Given the description of an element on the screen output the (x, y) to click on. 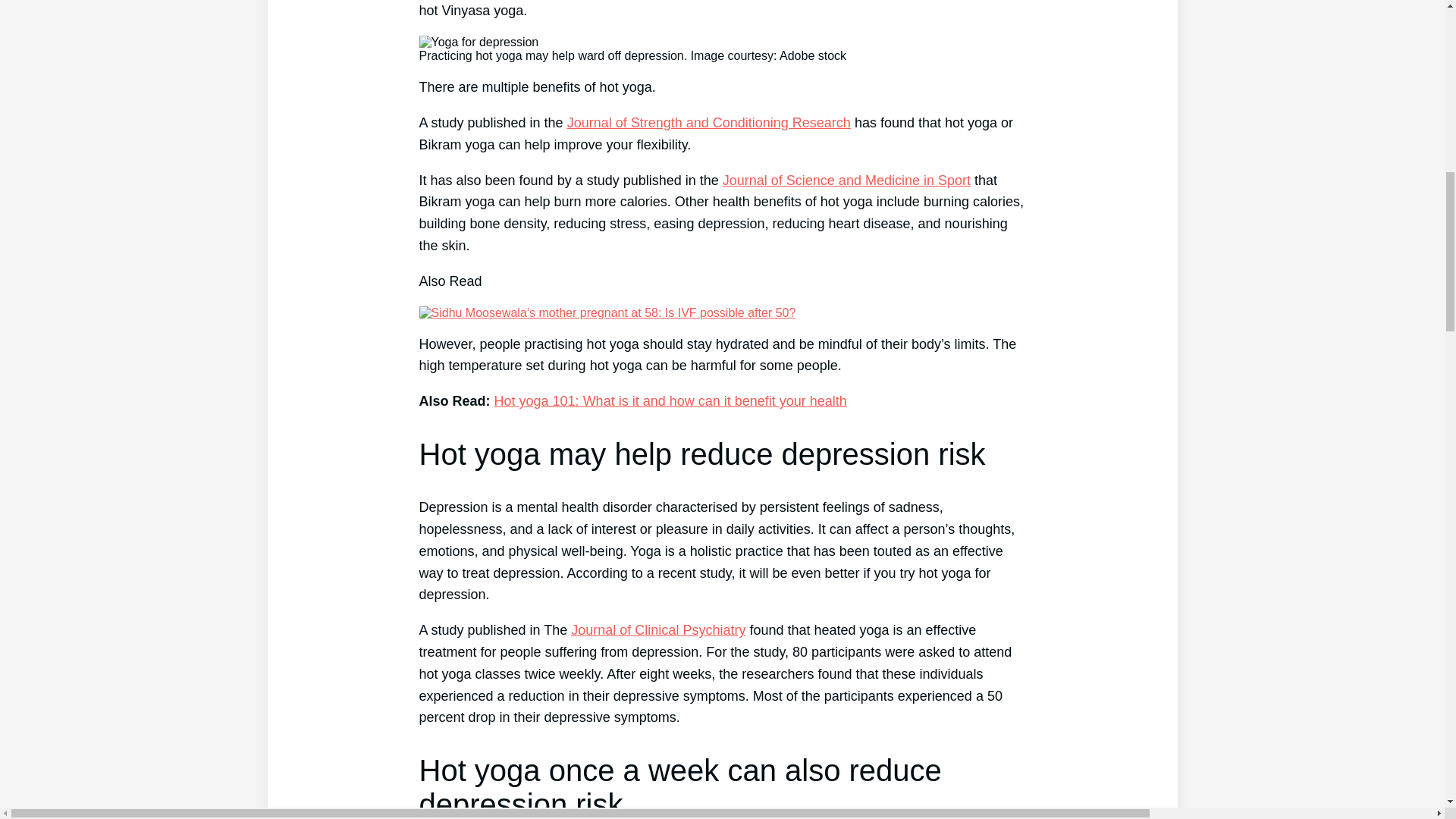
Journal of Strength and Conditioning Research (708, 122)
Journal of Science and Medicine in Sport (846, 180)
Yoga for depression (478, 42)
Hot yoga 101: What is it and how can it benefit your health (671, 400)
Journal of Clinical Psychiatry (657, 630)
